Given the description of an element on the screen output the (x, y) to click on. 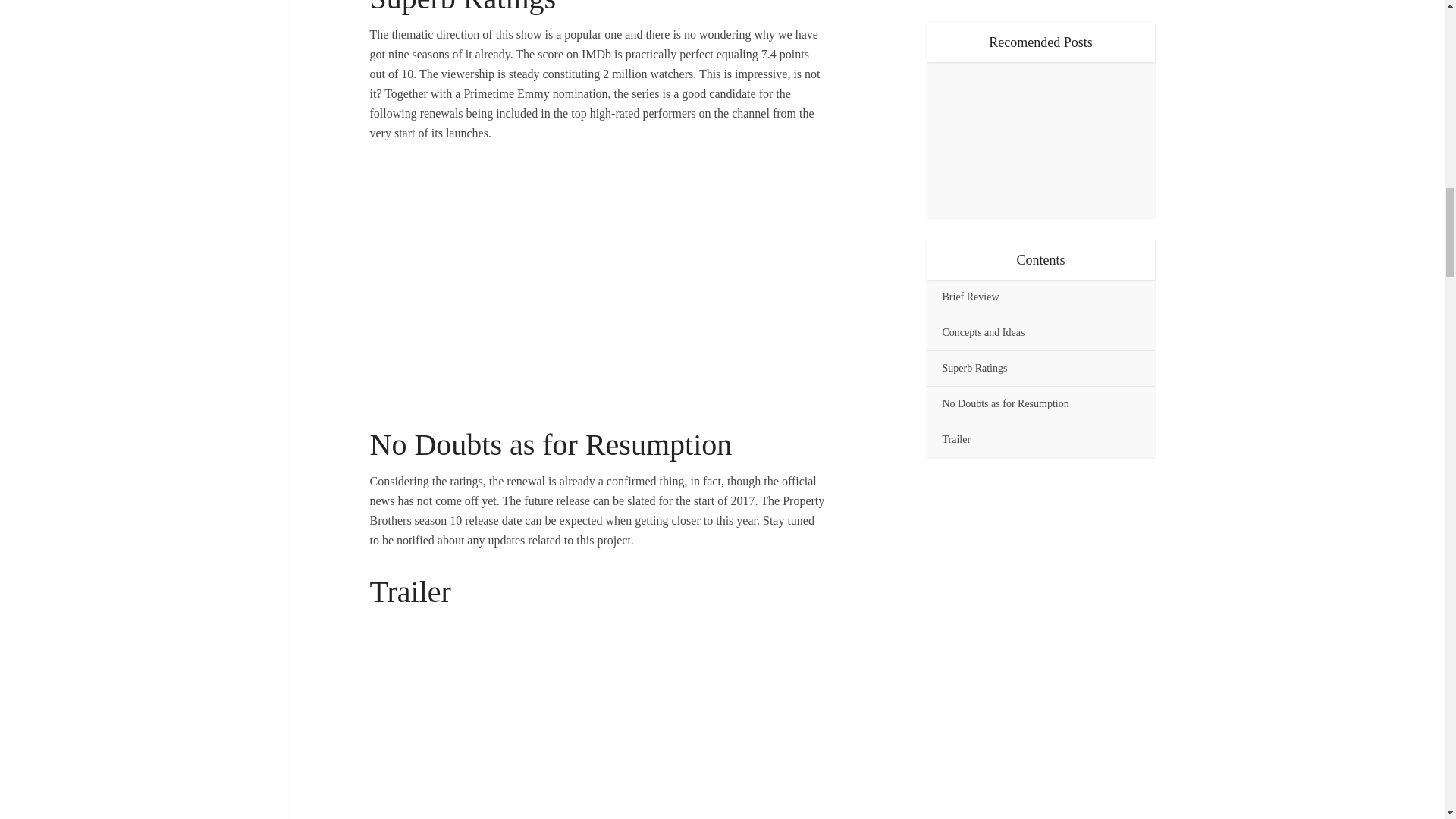
The Untold Truth Of Property Brothers (597, 719)
